Given the description of an element on the screen output the (x, y) to click on. 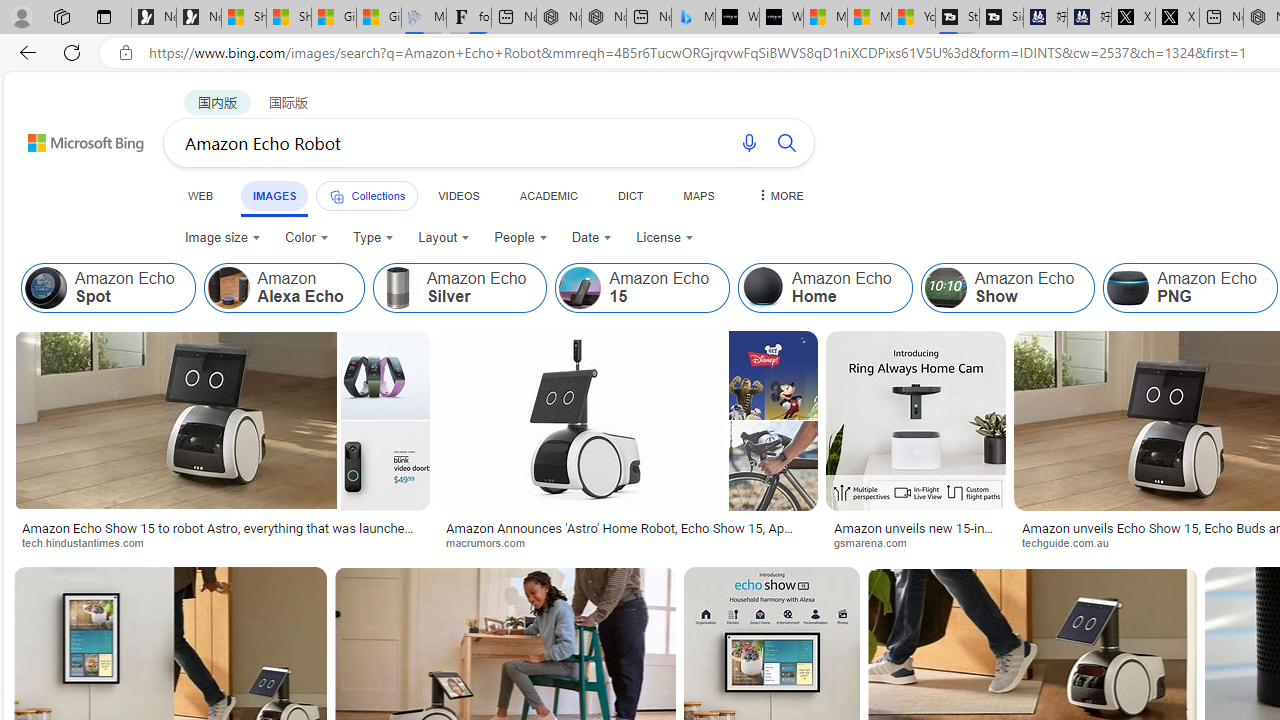
X (1177, 17)
Amazon Echo Silver (397, 287)
Class: item col (1190, 287)
tech.hindustantimes.com (89, 541)
Amazon Alexa Echo (283, 287)
Layout (443, 237)
People (521, 237)
Microsoft Bing Travel - Shangri-La Hotel Bangkok (693, 17)
Amazon Echo Show (1007, 287)
ACADEMIC (548, 195)
